Given the description of an element on the screen output the (x, y) to click on. 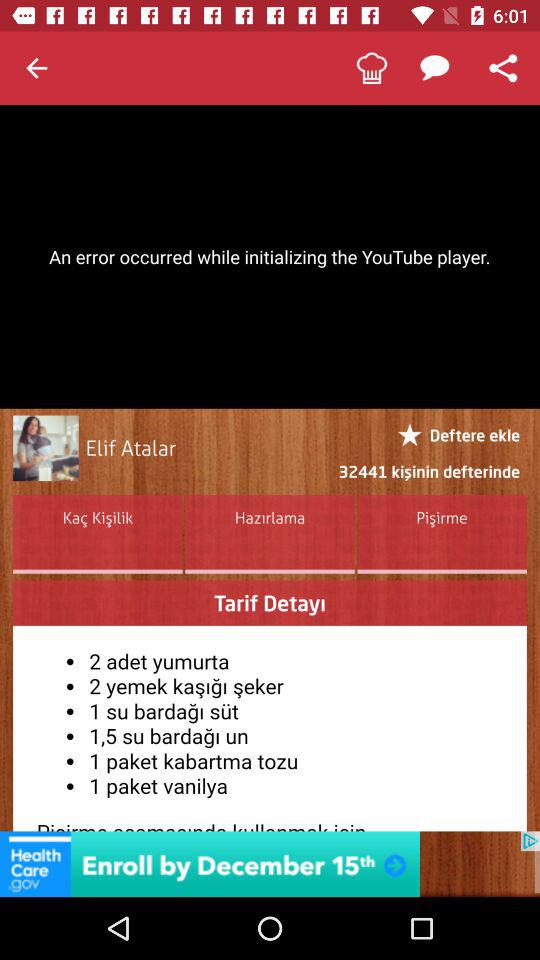
advertising link (270, 864)
